Given the description of an element on the screen output the (x, y) to click on. 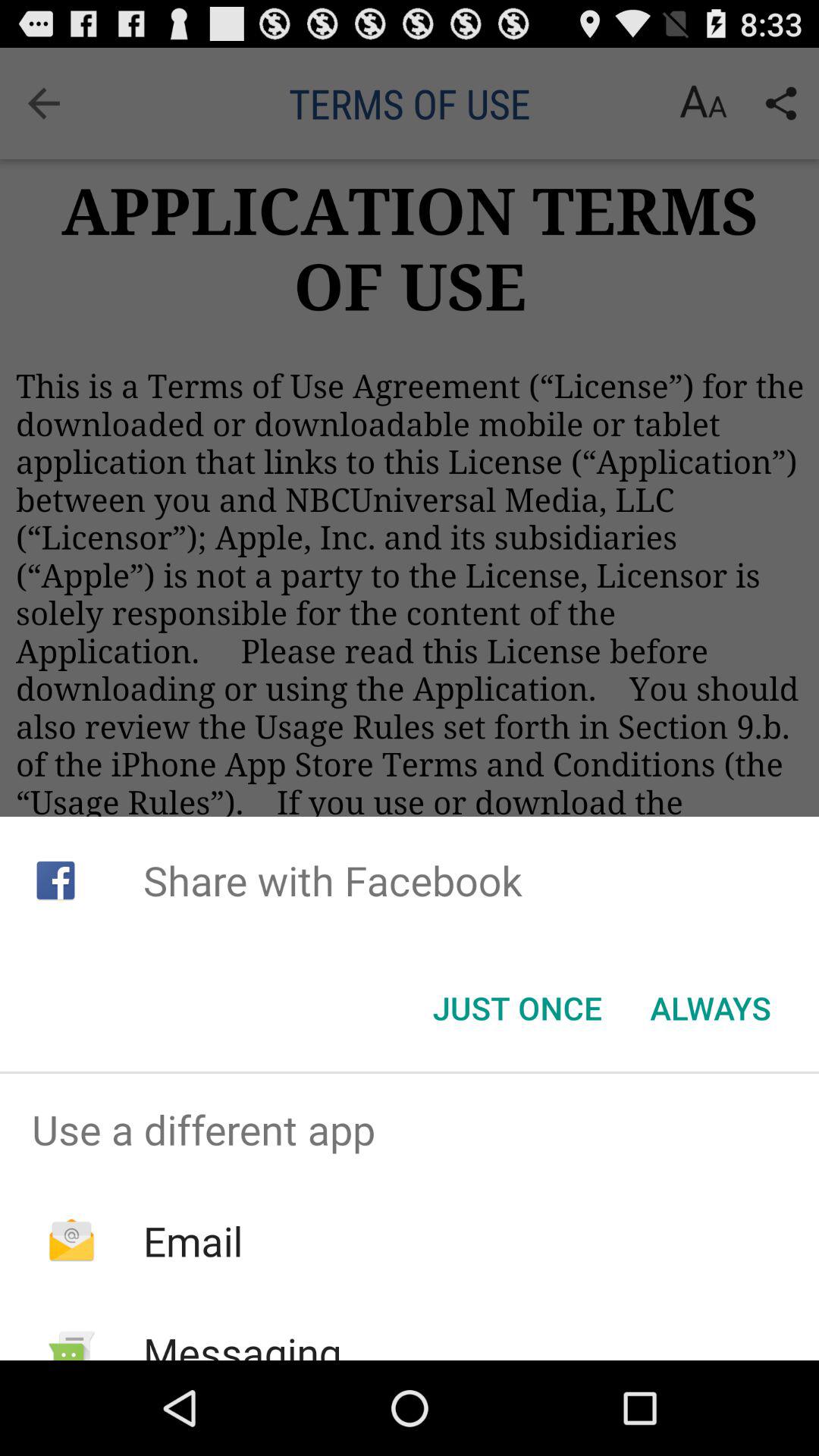
tap the icon below share with facebook item (517, 1007)
